Given the description of an element on the screen output the (x, y) to click on. 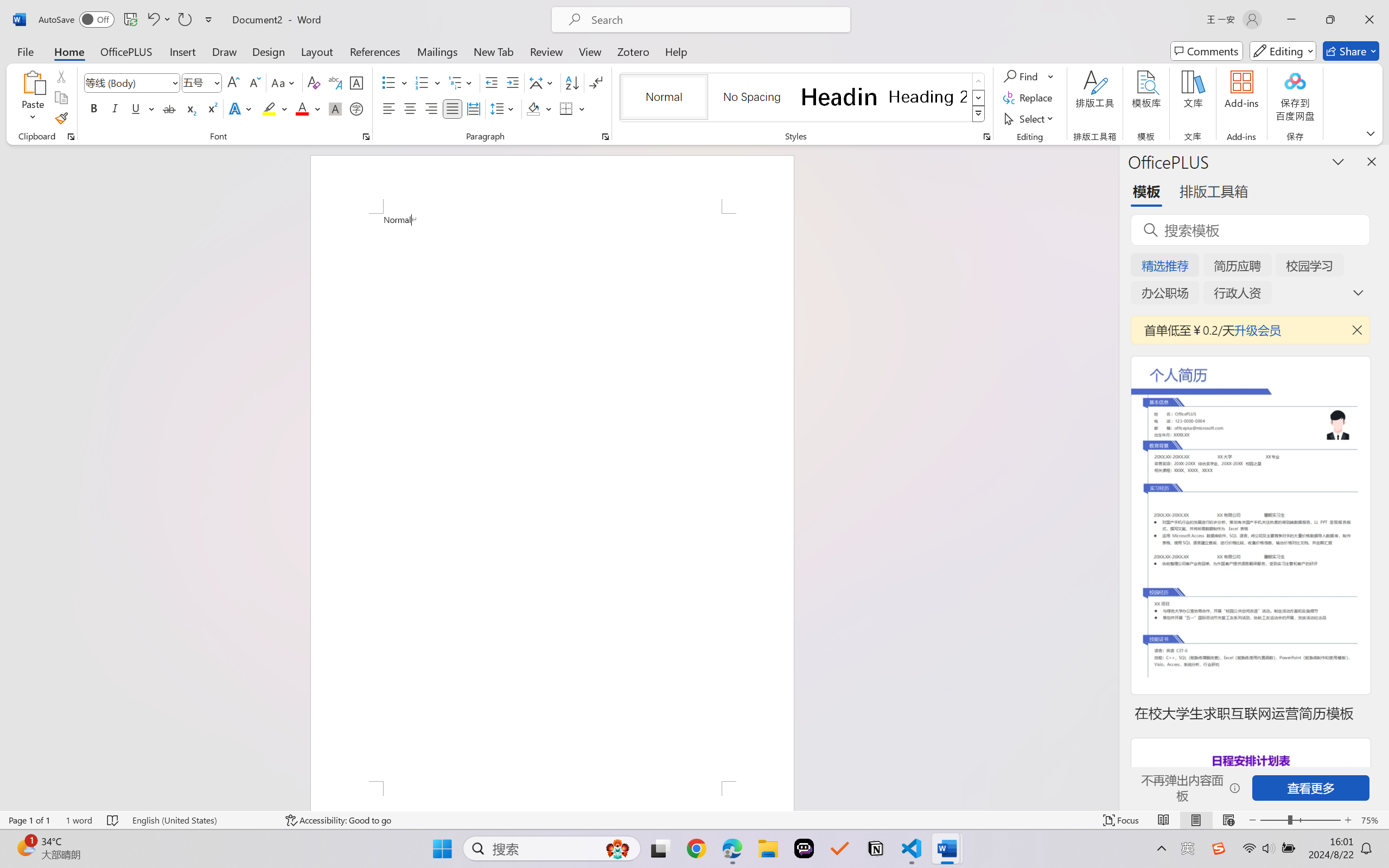
Page 1 content (551, 497)
AutomationID: DynamicSearchBoxGleamImage (617, 848)
Align Left (388, 108)
Grow Font (233, 82)
Shrink Font (253, 82)
Numbering (428, 82)
Accessibility Checker Accessibility: Good to go (338, 819)
Text Effects and Typography (241, 108)
Comments (1206, 50)
Minimize (1291, 19)
